Given the description of an element on the screen output the (x, y) to click on. 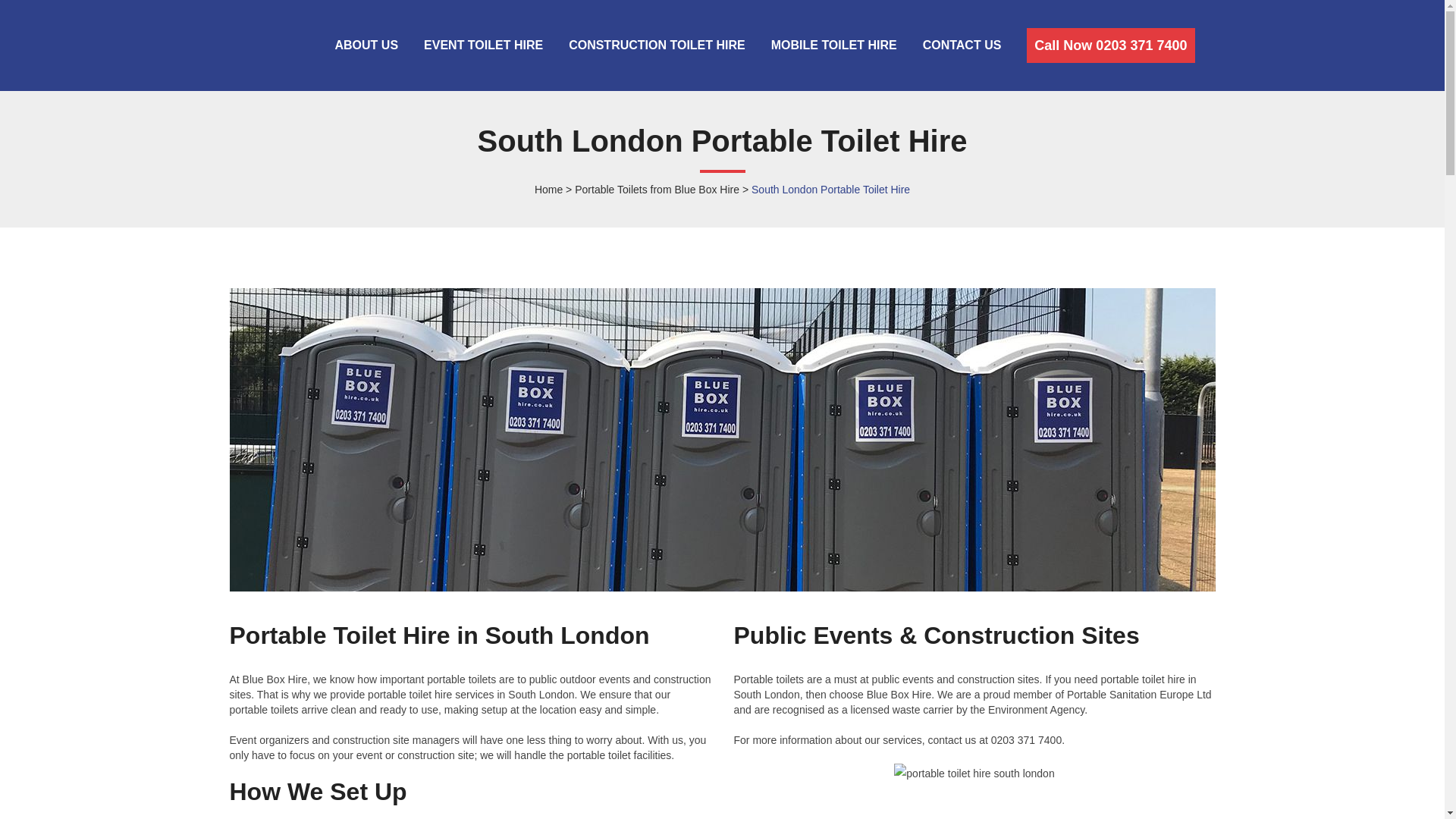
Portable Toilets from Blue Box Hire (657, 189)
ABOUT US (365, 45)
EVENT TOILET HIRE (483, 45)
CONTACT US (962, 45)
Call Now 0203 371 7400 (1109, 45)
MOBILE TOILET HIRE (834, 45)
Home (548, 189)
CONSTRUCTION TOILET HIRE (657, 45)
